Given the description of an element on the screen output the (x, y) to click on. 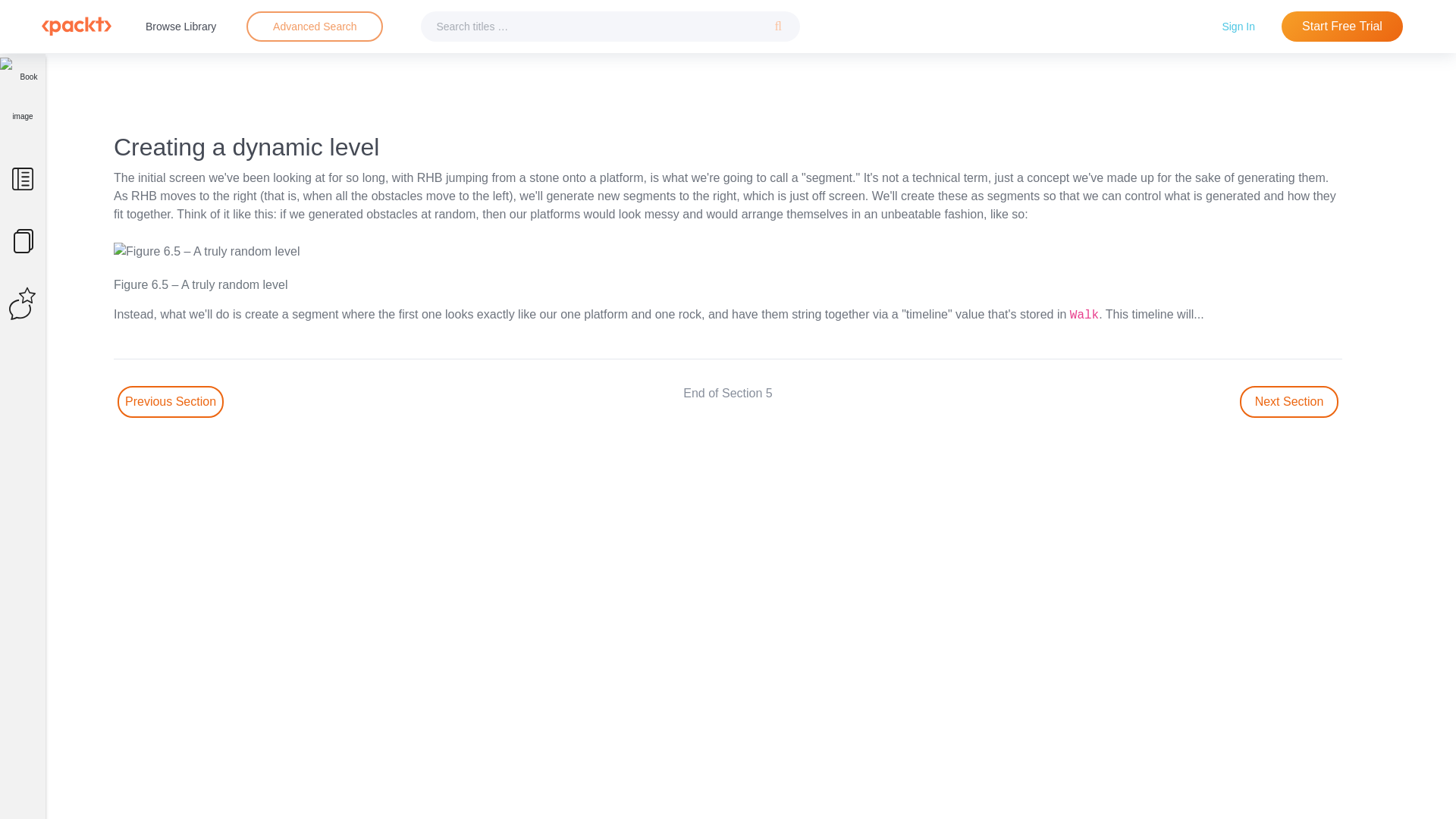
Browse Library (180, 26)
Go to next section (1289, 401)
Advanced search (314, 26)
Start Free Trial (1342, 26)
Advanced Search (315, 26)
Go to Previous section (170, 401)
Advanced Search (314, 26)
Sign In (1238, 26)
